Given the description of an element on the screen output the (x, y) to click on. 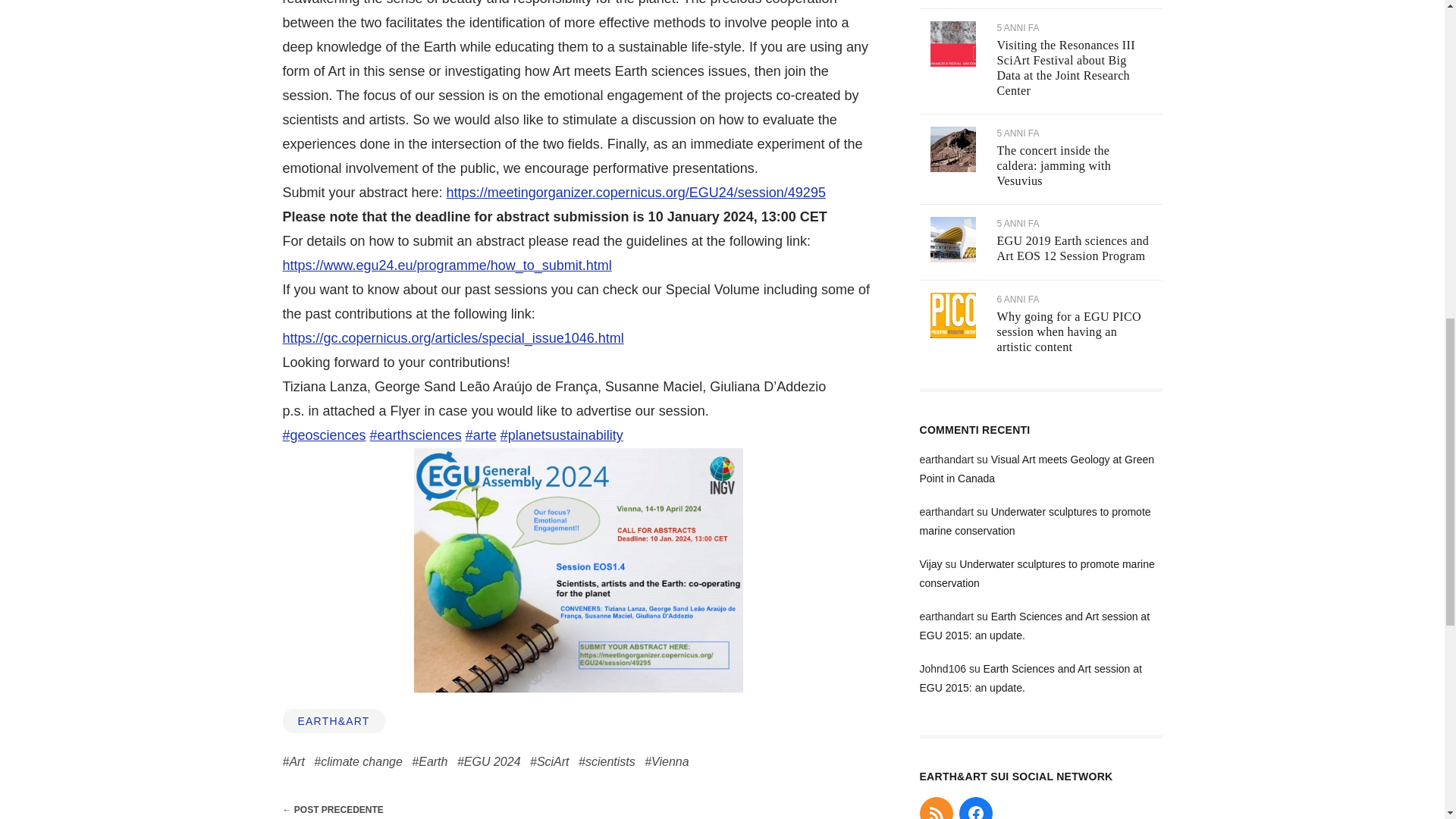
Rss (935, 807)
Visual Art meets Geology at Green Point in Canada (1036, 468)
climate change (358, 761)
EGU 2019 Earth sciences and Art EOS 12 Session Program (1071, 248)
Facebook (974, 807)
Art (293, 761)
EGU 2019 Earth sciences and Art EOS 12 Session Program (952, 258)
